Given the description of an element on the screen output the (x, y) to click on. 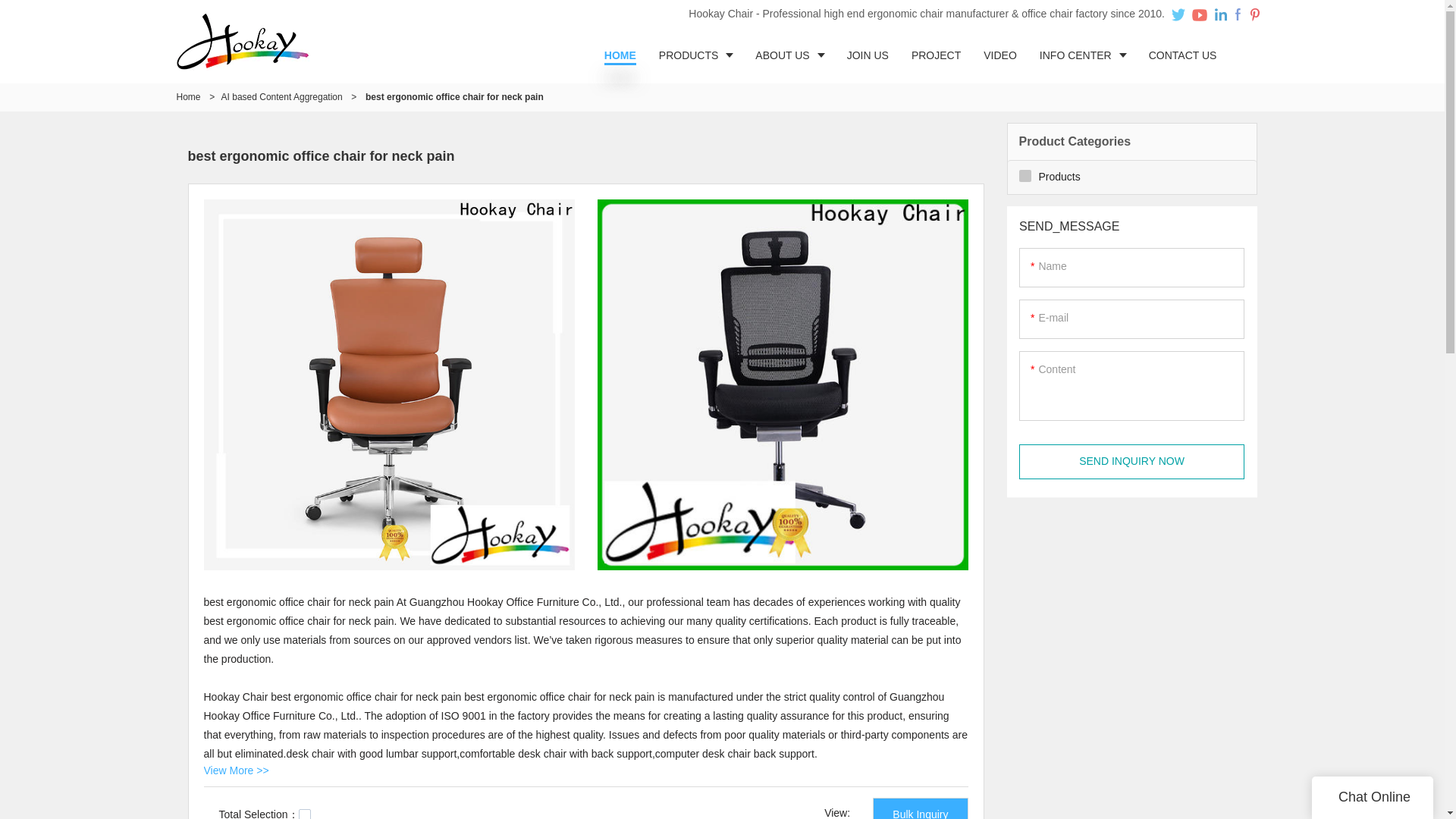
Home (188, 96)
ABOUT US (789, 55)
HOME (619, 55)
AI based Content Aggregation (281, 96)
CONTACT US (1182, 55)
PRODUCTS (695, 55)
on (304, 814)
JOIN US (867, 55)
VIDEO (999, 55)
PROJECT (935, 55)
INFO CENTER (1082, 55)
